Given the description of an element on the screen output the (x, y) to click on. 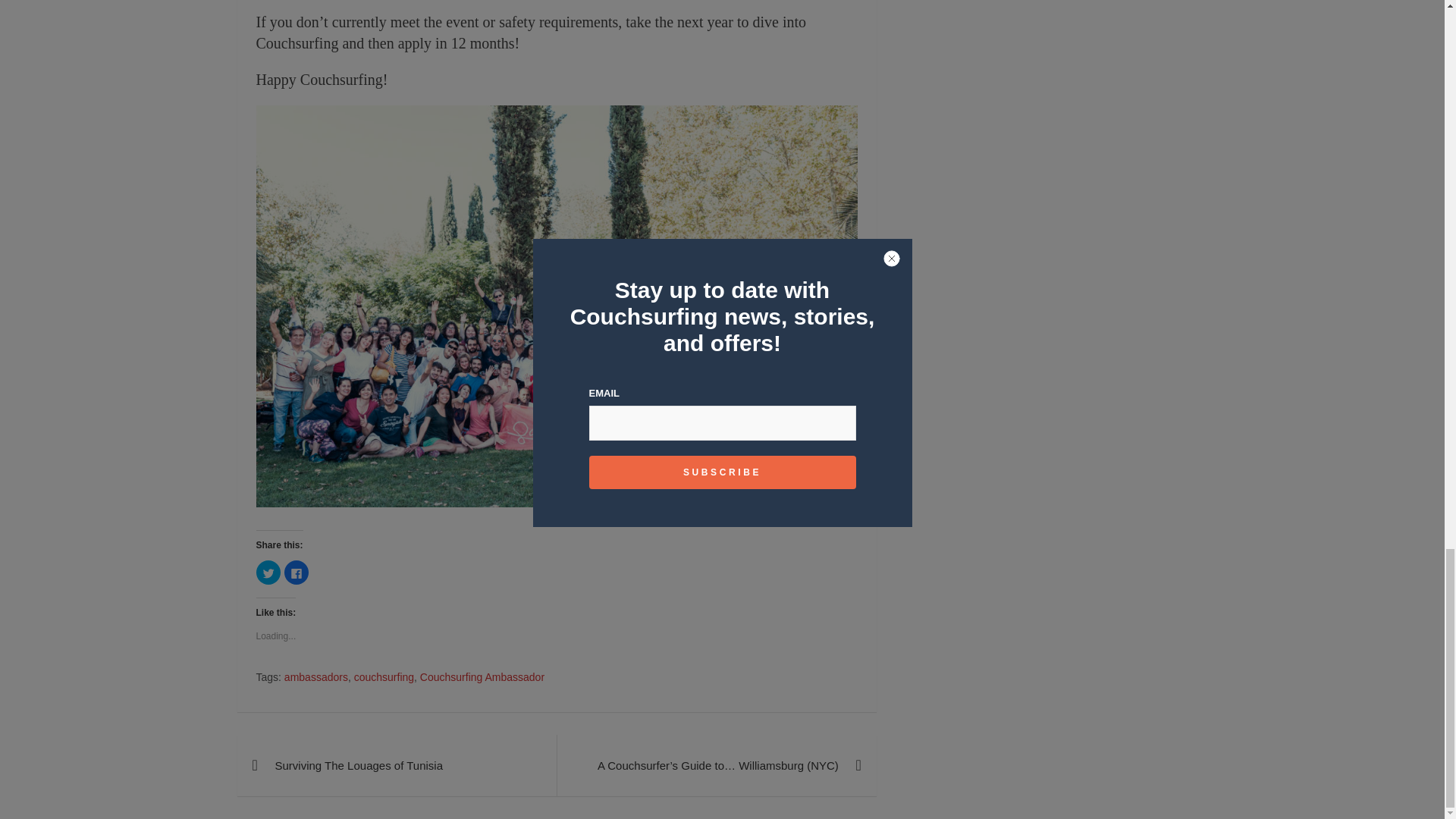
Click to share on Twitter (268, 572)
ambassadors (315, 677)
Click to share on Facebook (295, 572)
Surviving The Louages of Tunisia (395, 765)
Couchsurfing Ambassador (482, 677)
couchsurfing (383, 677)
